Given the description of an element on the screen output the (x, y) to click on. 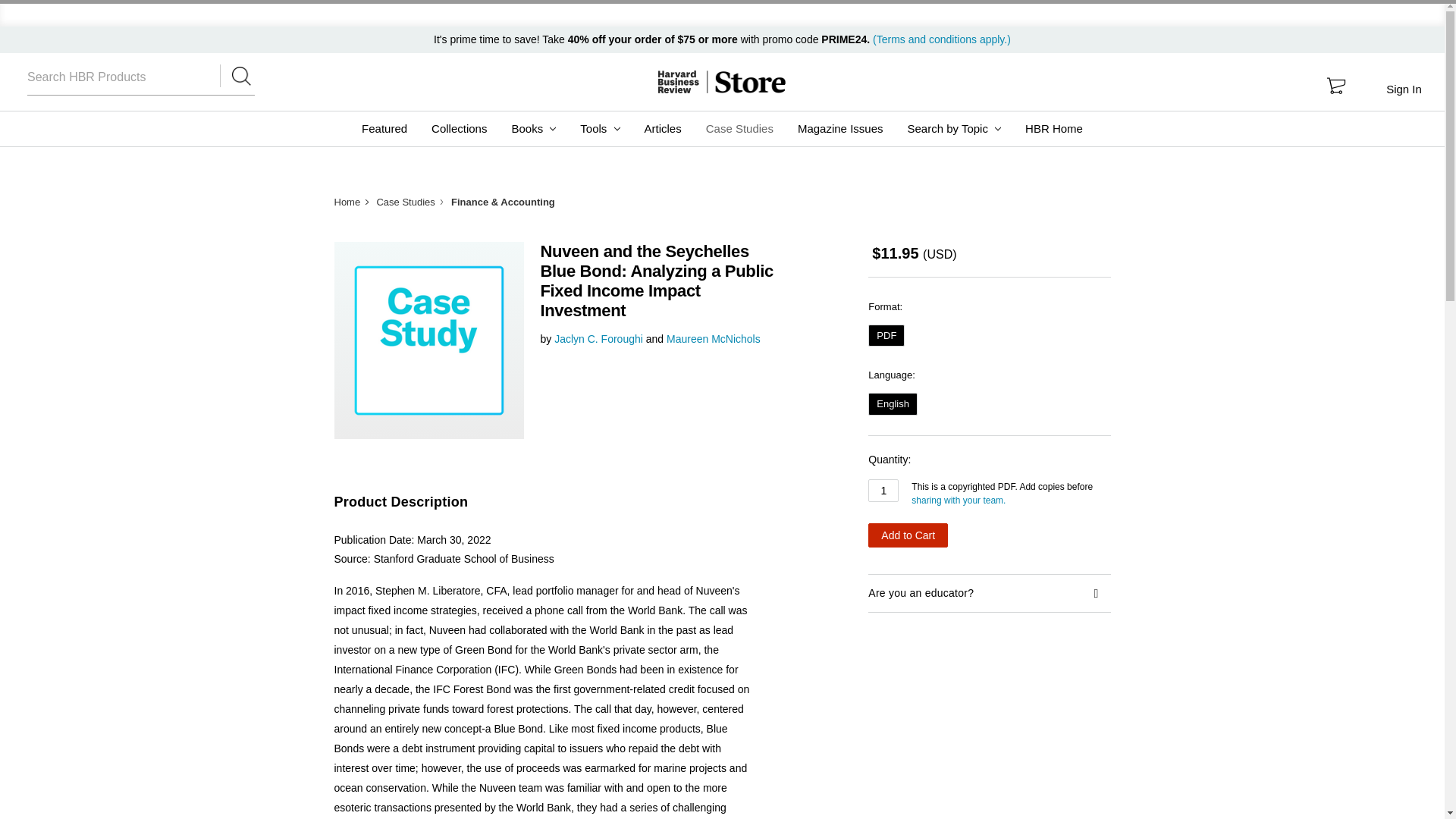
Tools (599, 128)
Articles (662, 128)
Books (533, 128)
